Given the description of an element on the screen output the (x, y) to click on. 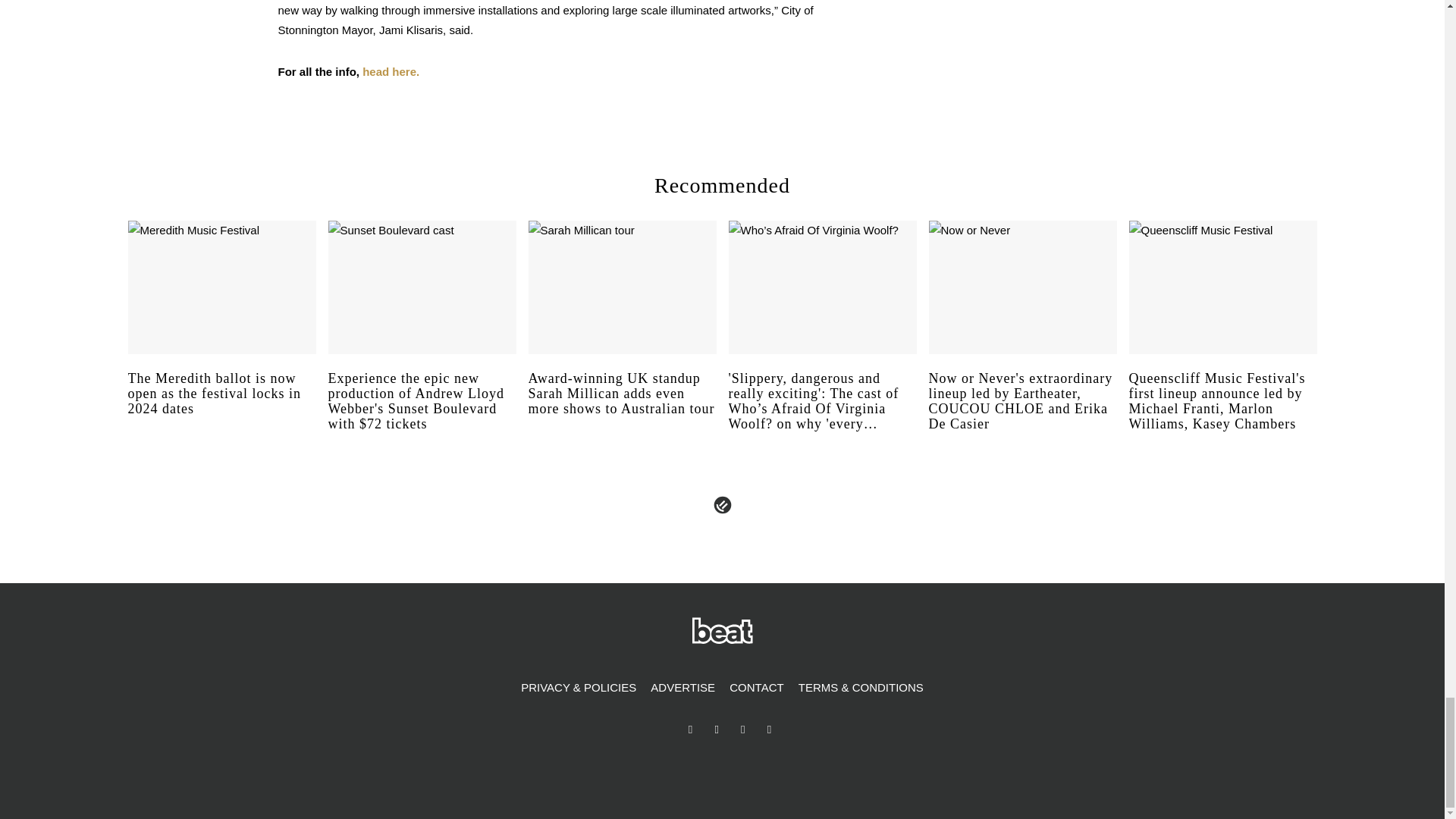
head here. (390, 71)
